Given the description of an element on the screen output the (x, y) to click on. 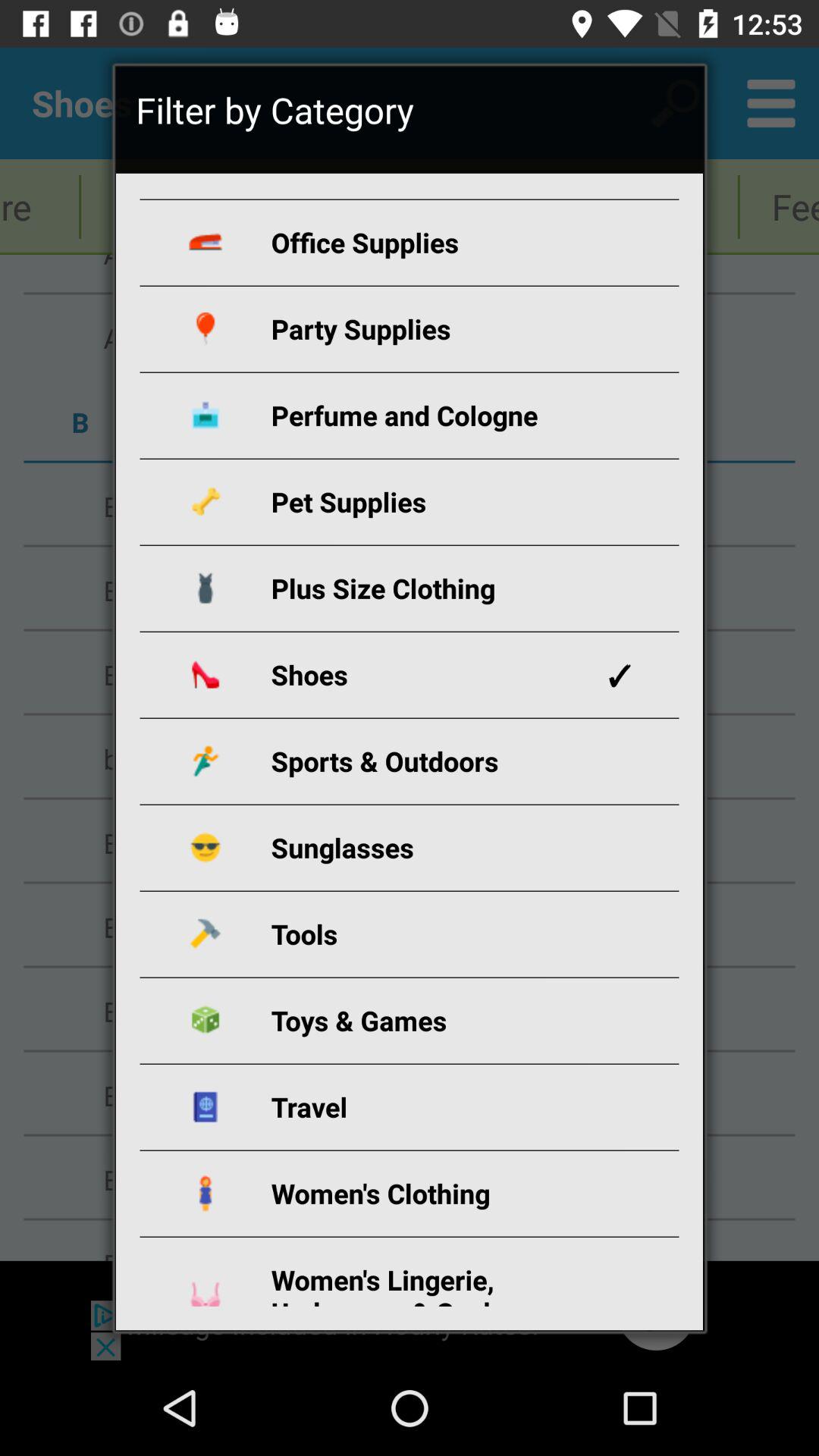
turn on the perfume and cologne icon (427, 414)
